Given the description of an element on the screen output the (x, y) to click on. 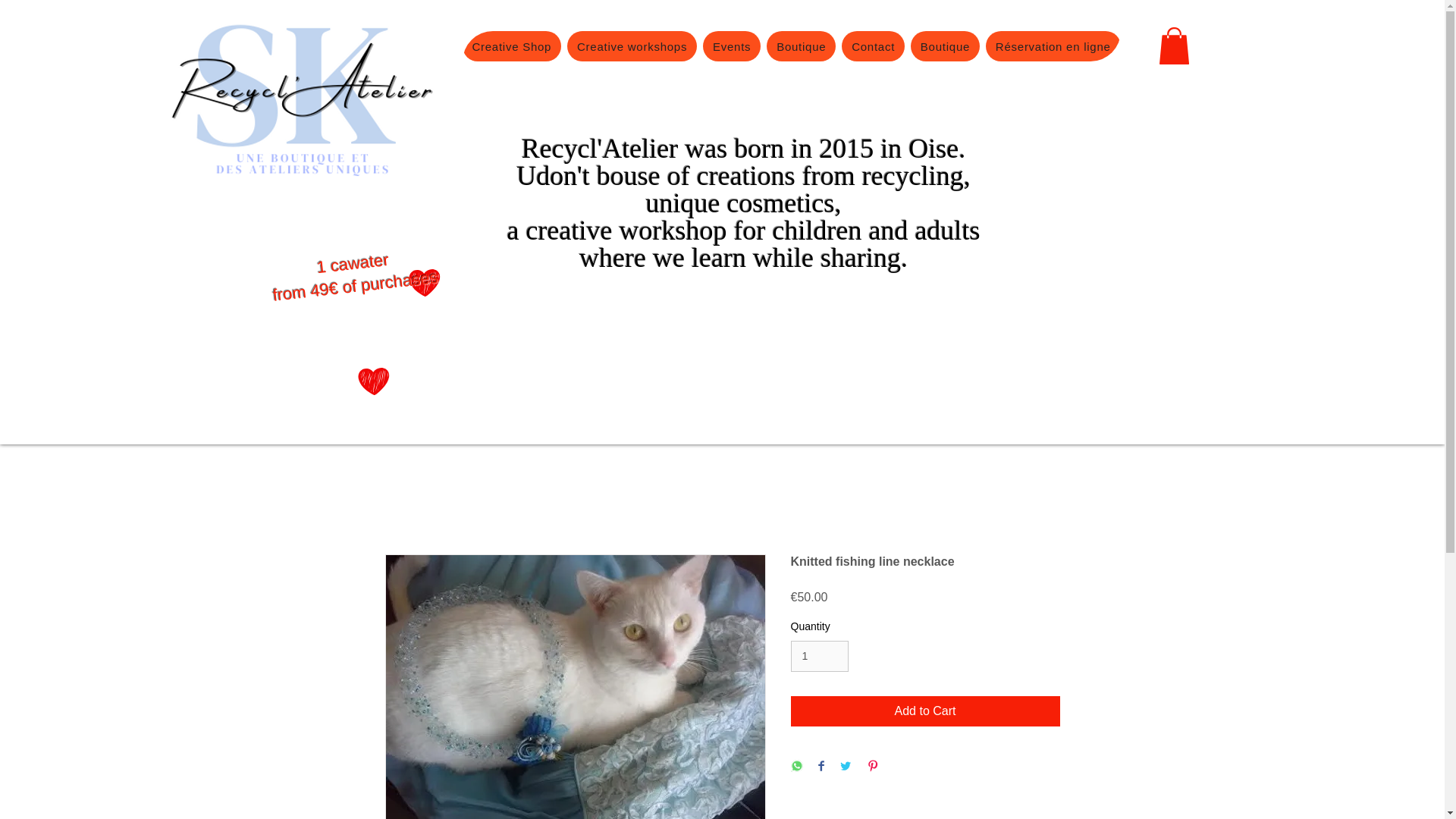
Events (731, 46)
Creative Shop (512, 46)
1 (818, 655)
Boutique (945, 46)
Contact (872, 46)
Boutique (801, 46)
Creative workshops (632, 46)
Add to Cart (924, 711)
